Given the description of an element on the screen output the (x, y) to click on. 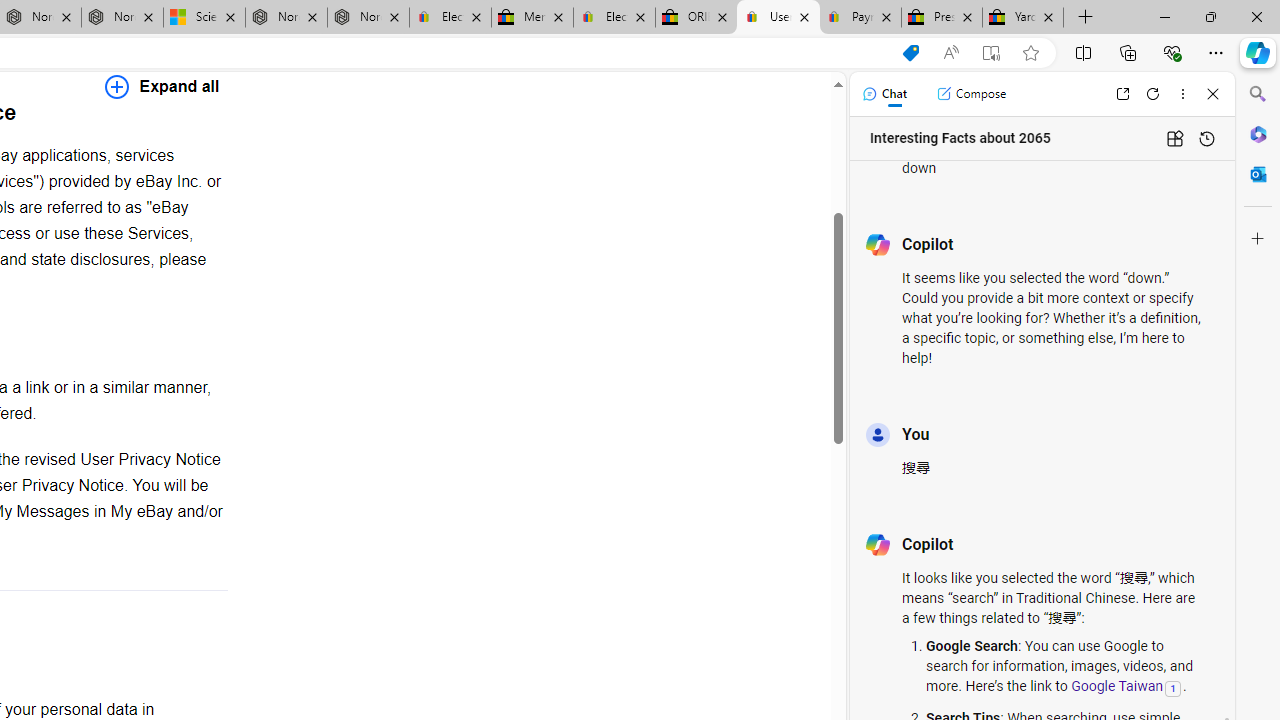
Yard, Garden & Outdoor Living (1023, 17)
Nordace - Summer Adventures 2024 (285, 17)
This site has coupons! Shopping in Microsoft Edge (910, 53)
Press Room - eBay Inc. (941, 17)
Payments Terms of Use | eBay.com (860, 17)
